Given the description of an element on the screen output the (x, y) to click on. 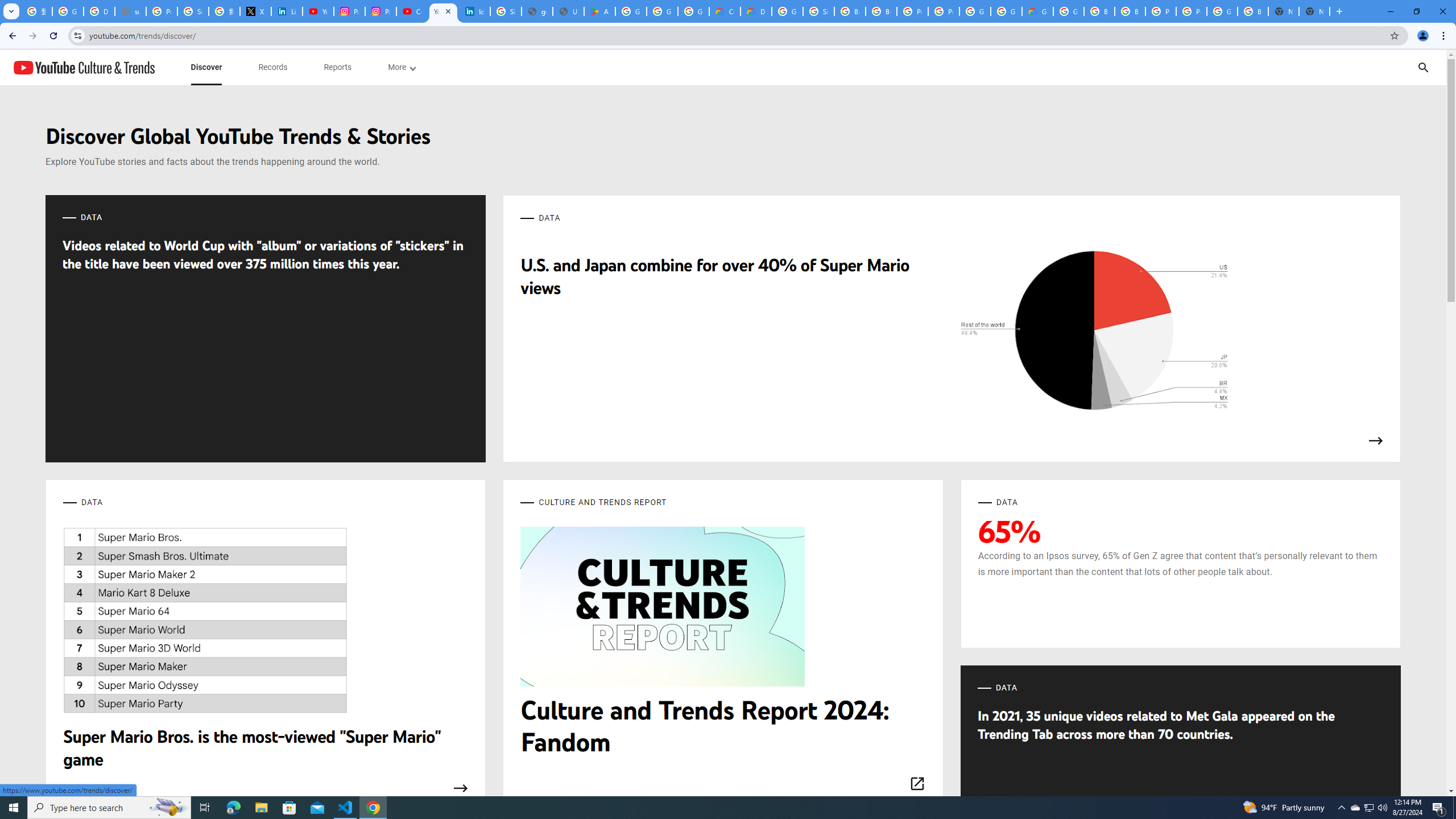
Sign in - Google Accounts (818, 11)
Google Workspace - Specific Terms (662, 11)
subnav-Reports menupopup (337, 67)
YouTube Culture & Trends (83, 67)
subnav-More menupopup (401, 67)
YouTube Content Monetization Policies - How YouTube Works (318, 11)
subnav-Reports menupopup (337, 67)
